Given the description of an element on the screen output the (x, y) to click on. 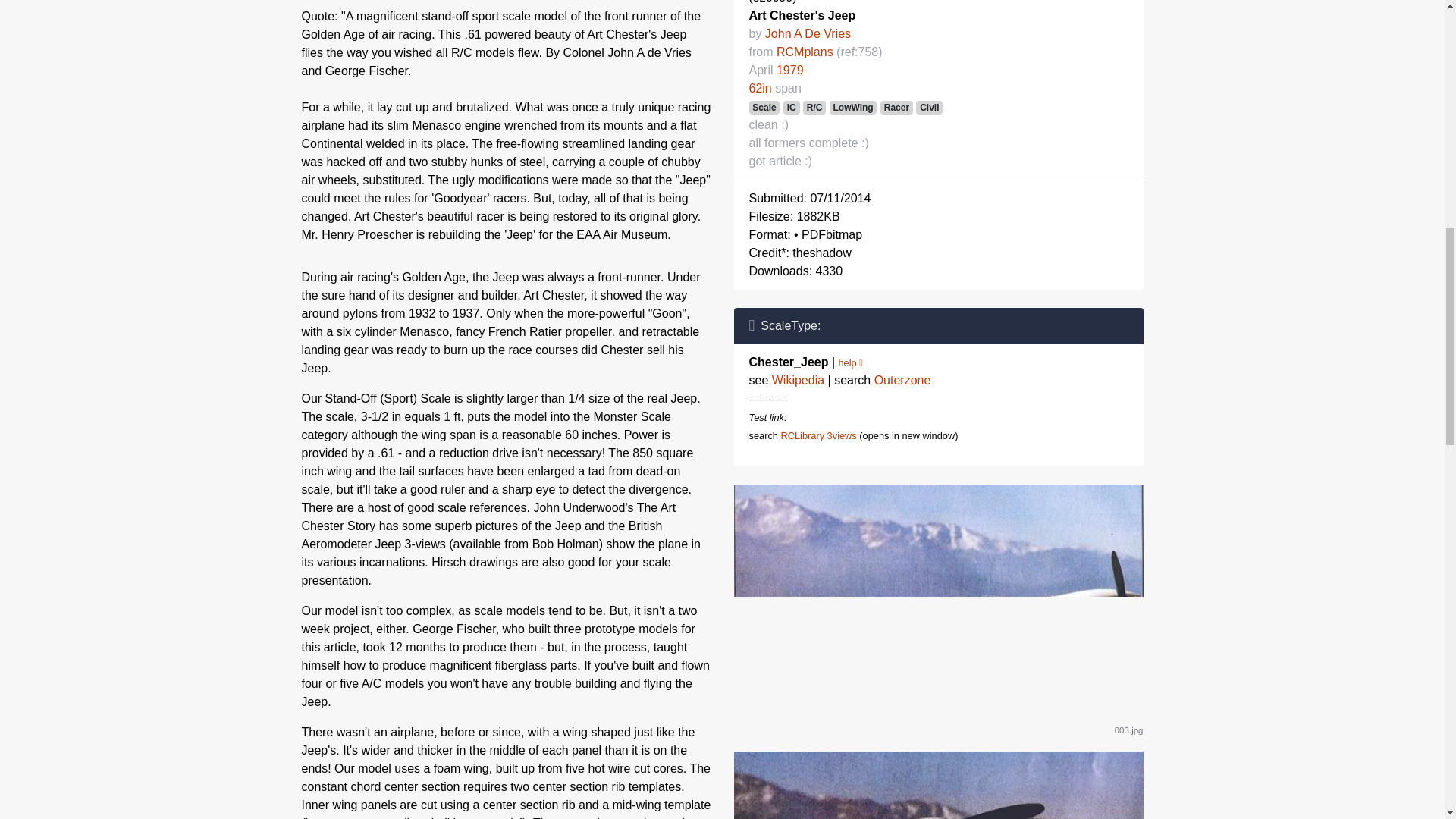
Wikipedia (797, 379)
62in (760, 88)
RCMplans (804, 51)
help (850, 362)
Outerzone (903, 379)
John A De Vries (807, 33)
1979 (789, 69)
RCLibrary 3views (818, 435)
